Given the description of an element on the screen output the (x, y) to click on. 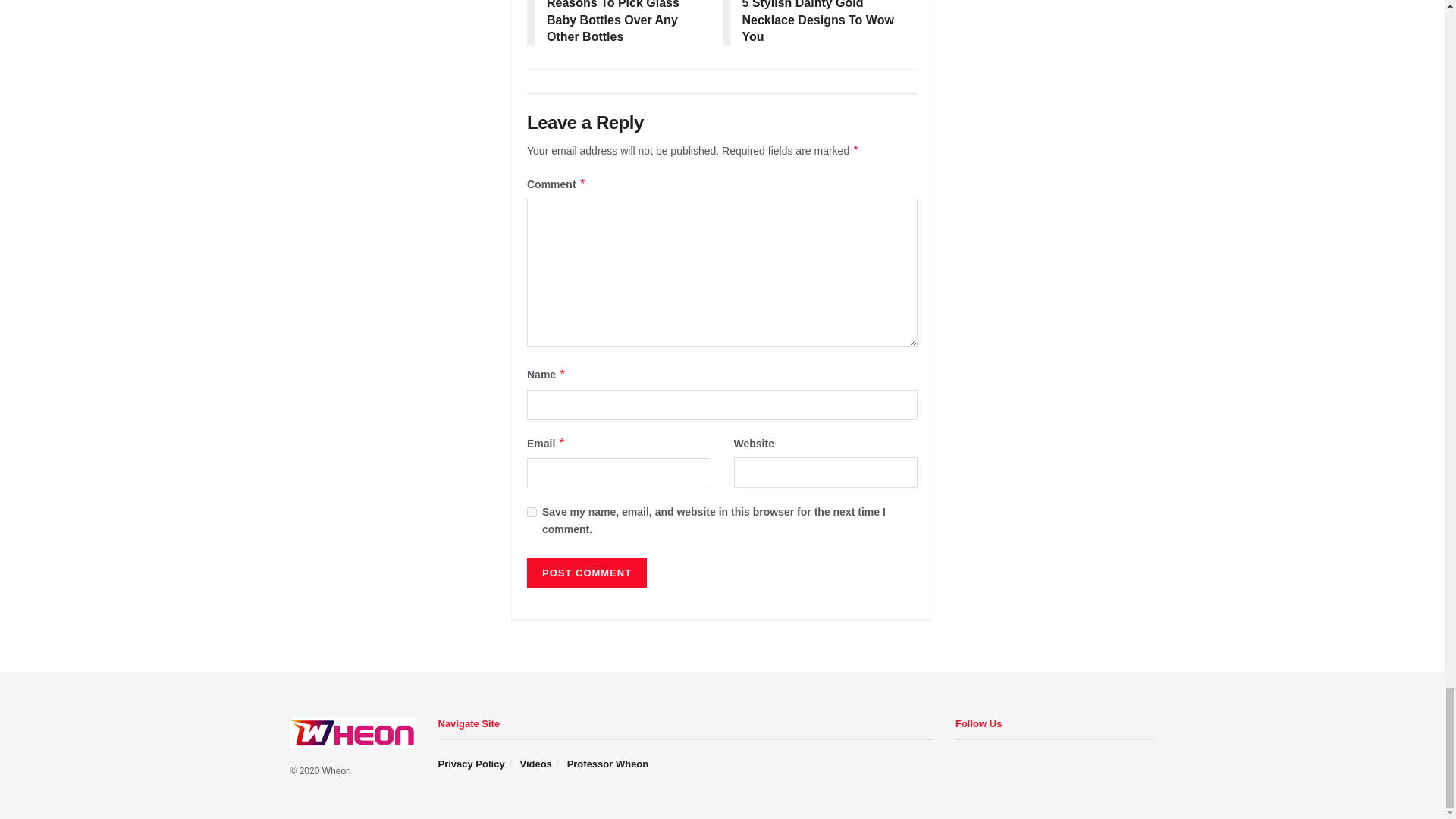
yes (532, 511)
Post Comment (586, 572)
